Given the description of an element on the screen output the (x, y) to click on. 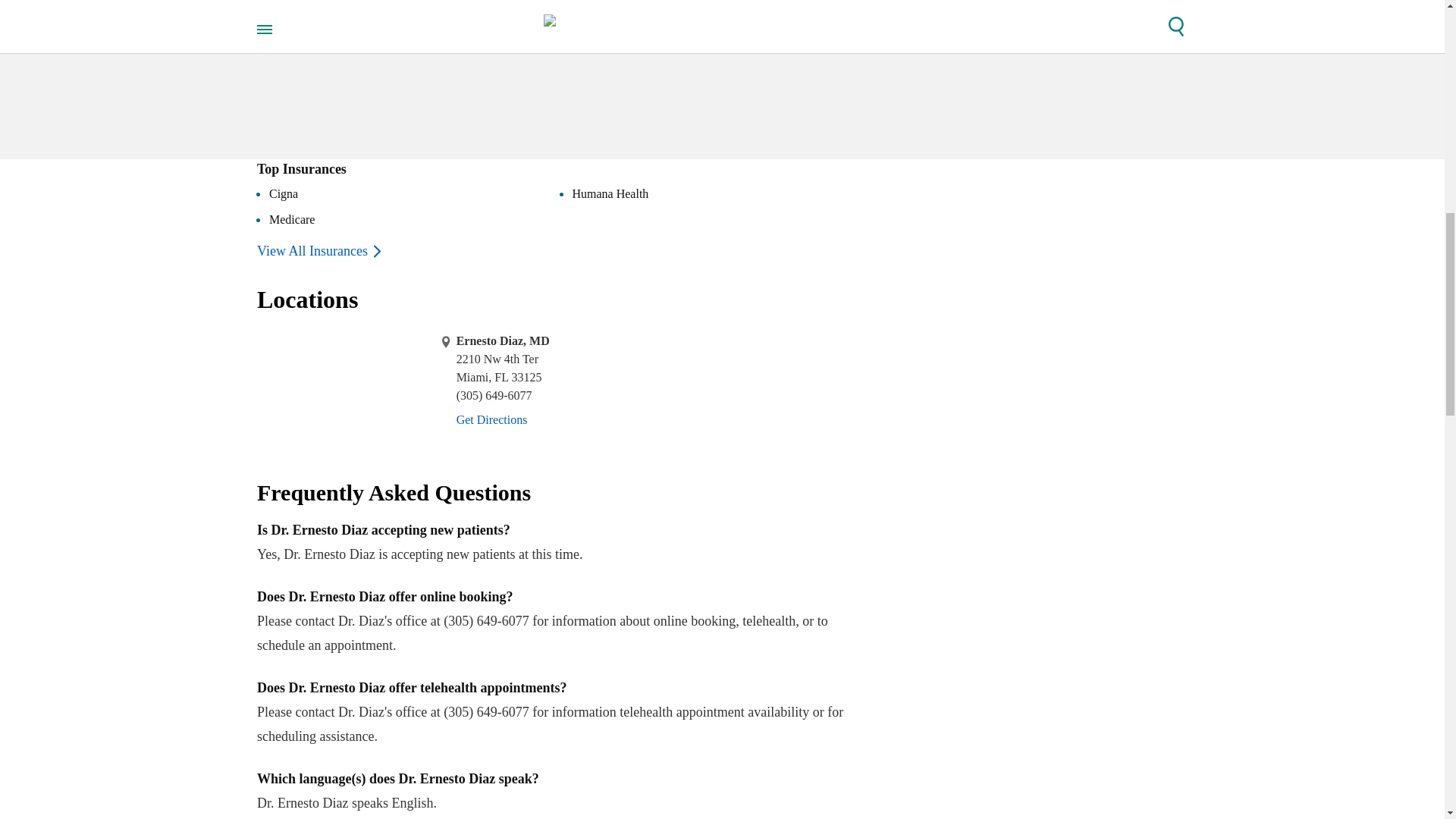
Ozone Injection (300, 4)
Get Directions (492, 419)
